Given the description of an element on the screen output the (x, y) to click on. 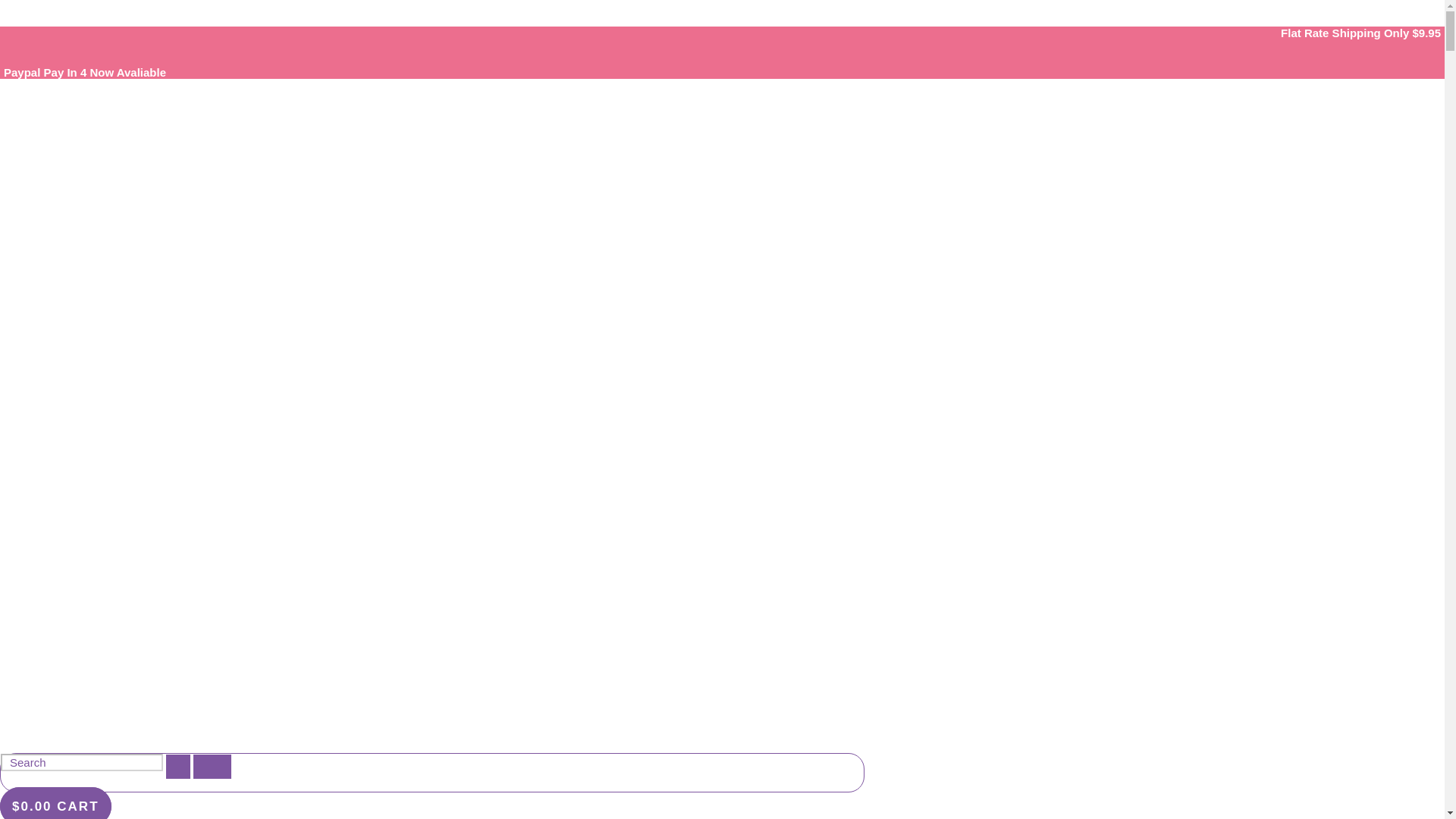
Search (82, 762)
